Given the description of an element on the screen output the (x, y) to click on. 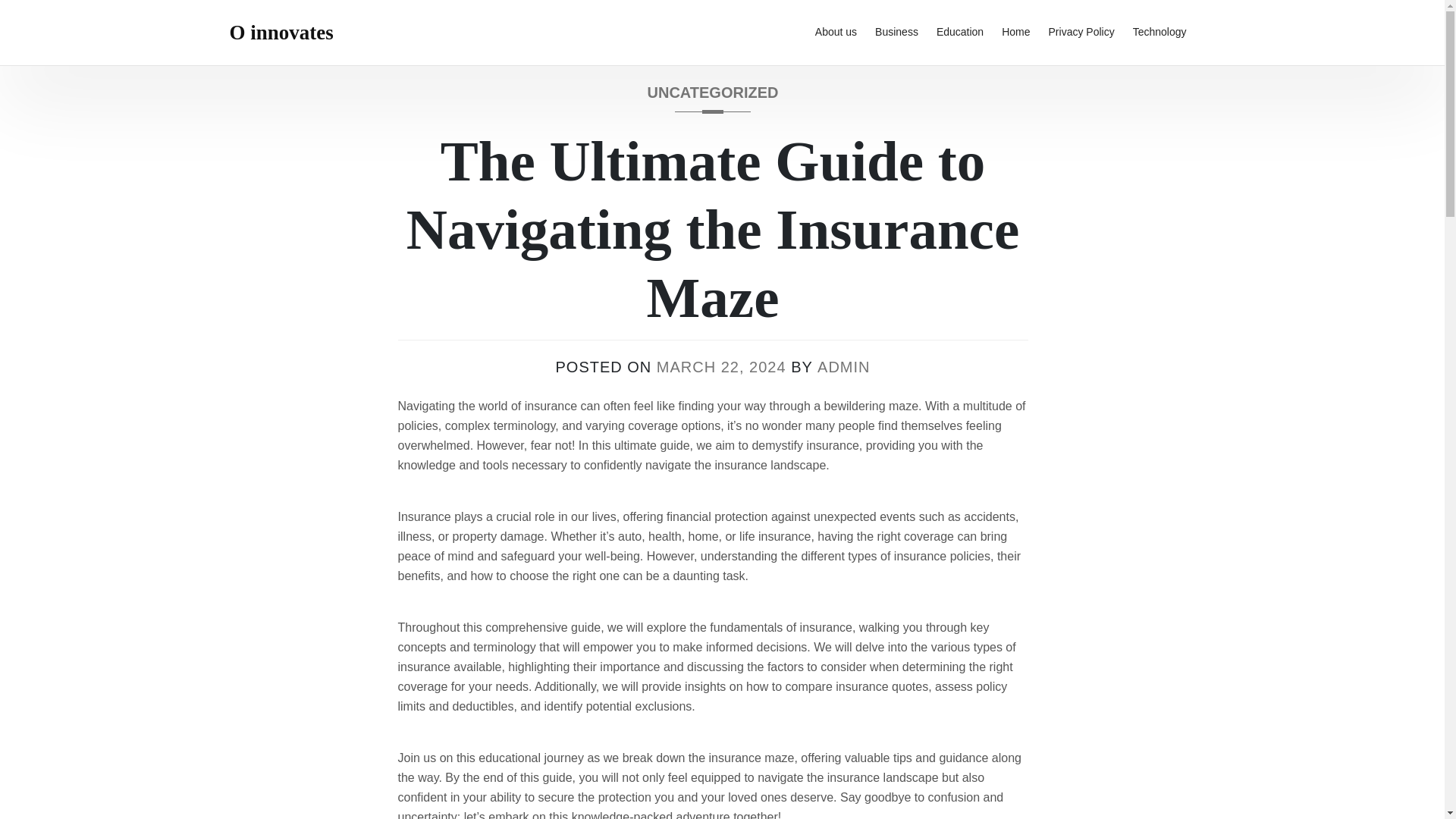
O innovates (280, 32)
ADMIN (842, 366)
MARCH 22, 2024 (721, 366)
Technology (1159, 33)
Education (959, 33)
UNCATEGORIZED (712, 98)
Privacy Policy (1081, 33)
Home (1015, 33)
About us (836, 33)
Business (896, 33)
